Given the description of an element on the screen output the (x, y) to click on. 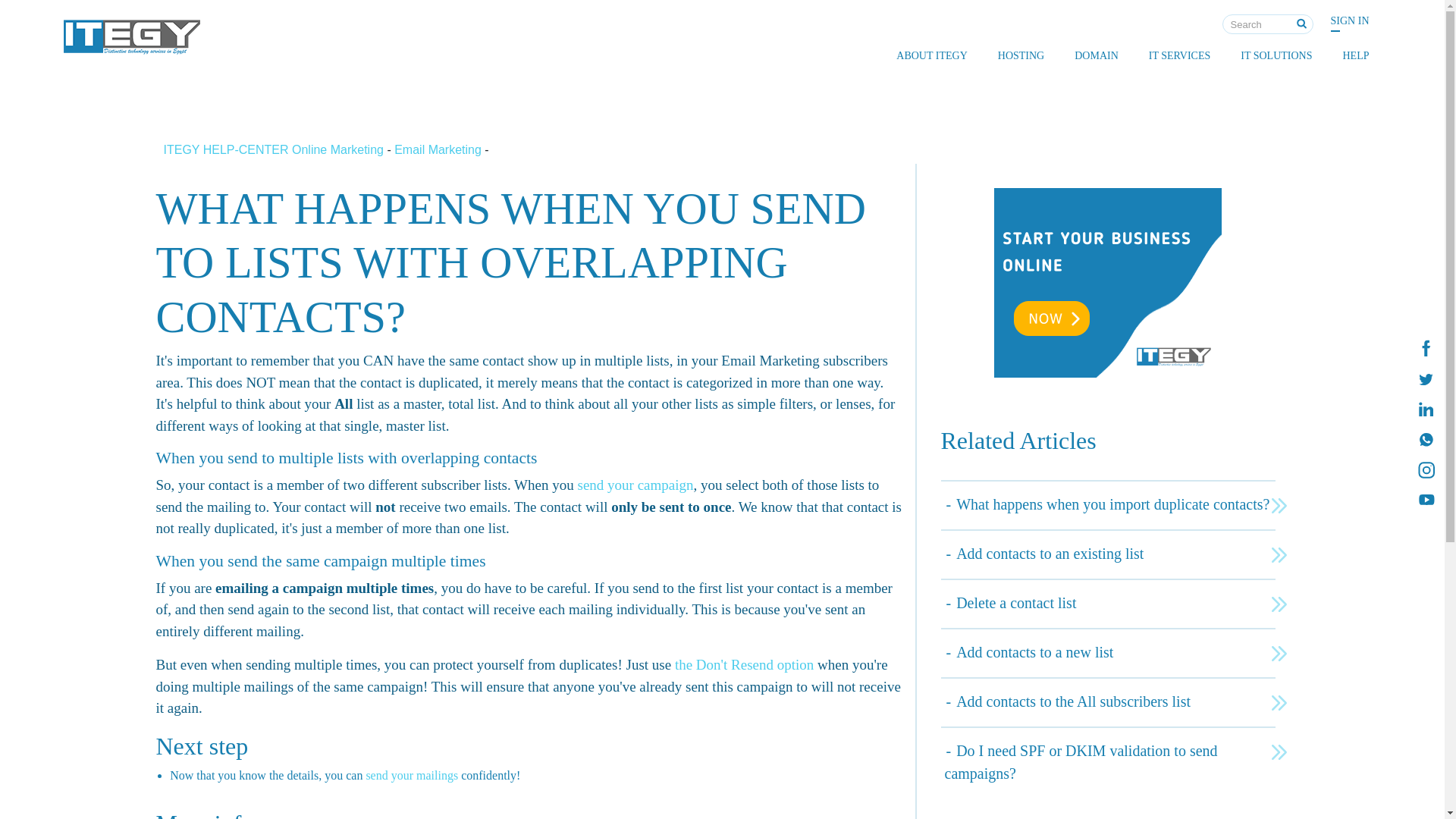
IT SERVICES (1180, 55)
the Don't Resend option (744, 664)
ITEGY HELP-CENTER Online Marketing (275, 149)
CPANEL (1022, 82)
DOMAIN REGISTRATION (1099, 82)
IT SOLUTIONS (1275, 55)
DOMAIN (1096, 55)
HOSTING (1021, 55)
SIGN IN (1350, 20)
send your campaign (634, 484)
HELP (1355, 55)
IT CONSULTANCY (1173, 82)
FAQ (1341, 82)
IT SUPPORT SOLUTIONS (1265, 82)
ABOUT ITEGY (930, 55)
